Given the description of an element on the screen output the (x, y) to click on. 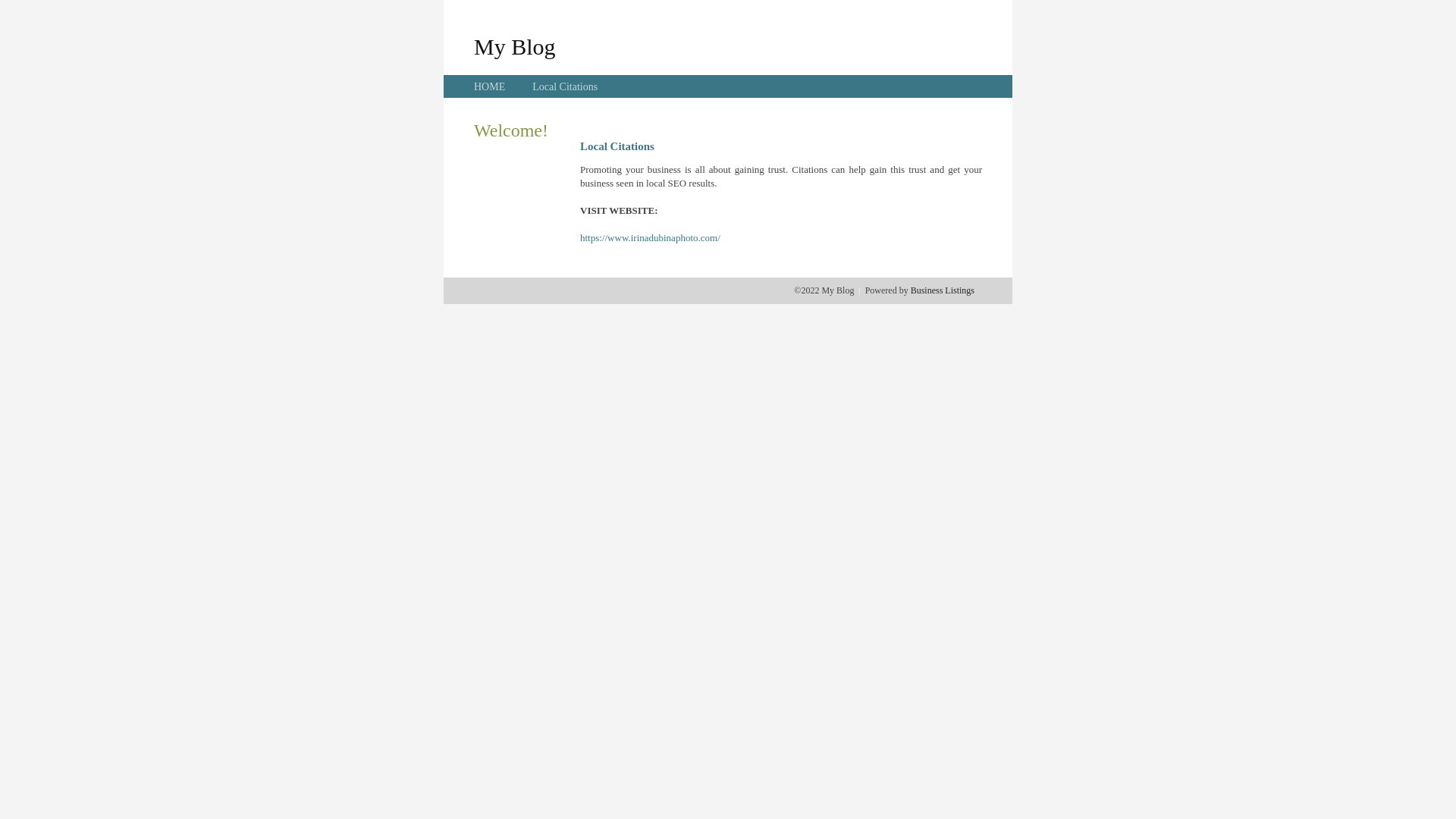
Business Listings Element type: text (942, 290)
My Blog Element type: text (514, 46)
https://www.irinadubinaphoto.com/ Element type: text (650, 237)
Local Citations Element type: text (564, 86)
HOME Element type: text (489, 86)
